Given the description of an element on the screen output the (x, y) to click on. 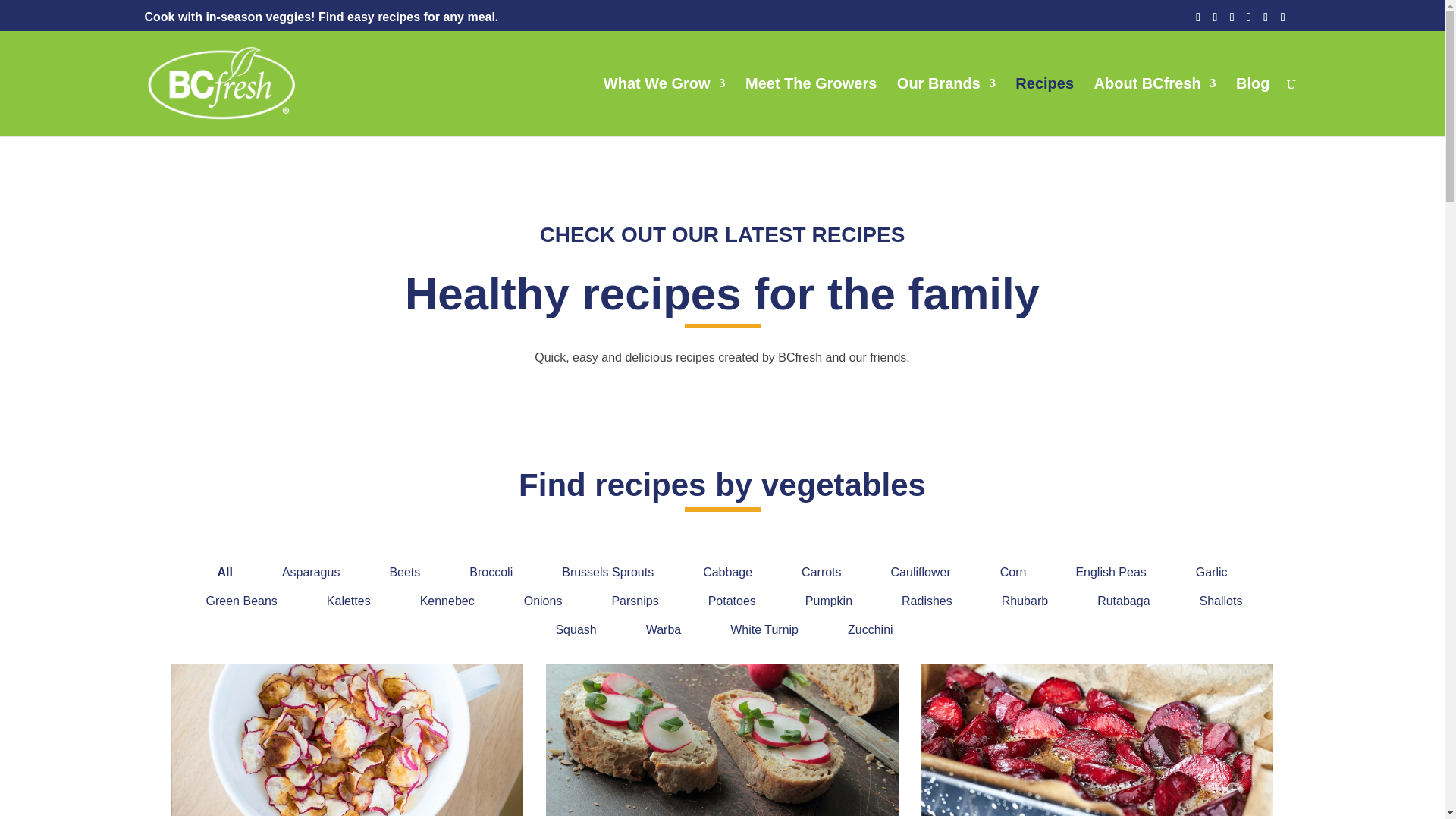
Cook with in-season veggies! Find easy recipes for any meal. (320, 17)
Meet The Growers (810, 106)
What We Grow (664, 106)
Our Brands (945, 106)
